Given the description of an element on the screen output the (x, y) to click on. 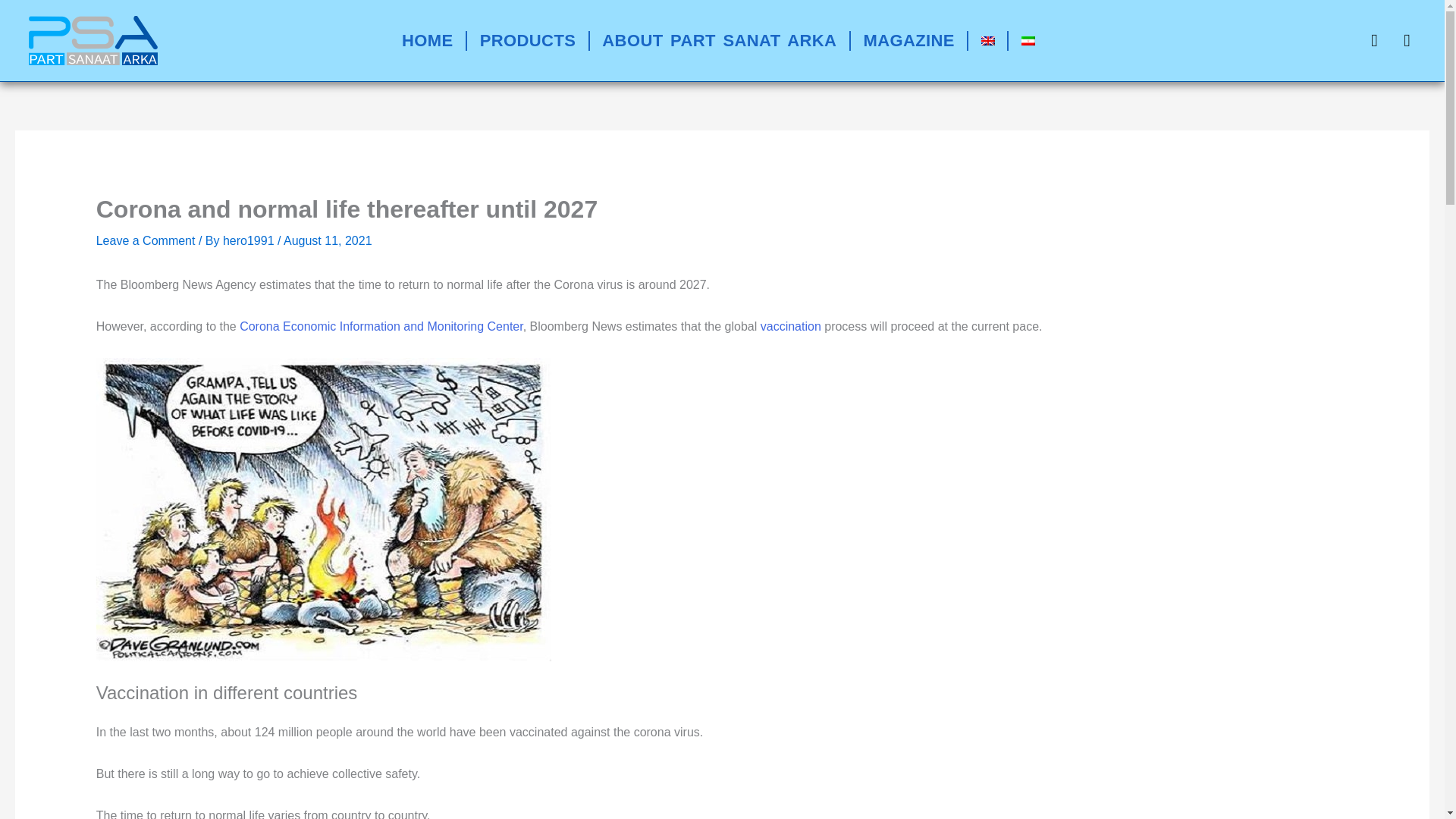
hero1991 (250, 240)
logo (93, 40)
PRODUCTS (527, 40)
HOME (427, 40)
Whatsapp (1406, 40)
View all posts by hero1991 (250, 240)
Corona Economic Information and Monitoring Center (381, 326)
MAGAZINE (908, 40)
Instagram (1374, 40)
Leave a Comment (145, 240)
vaccination (789, 326)
ABOUT PART SANAT ARKA (719, 40)
